Given the description of an element on the screen output the (x, y) to click on. 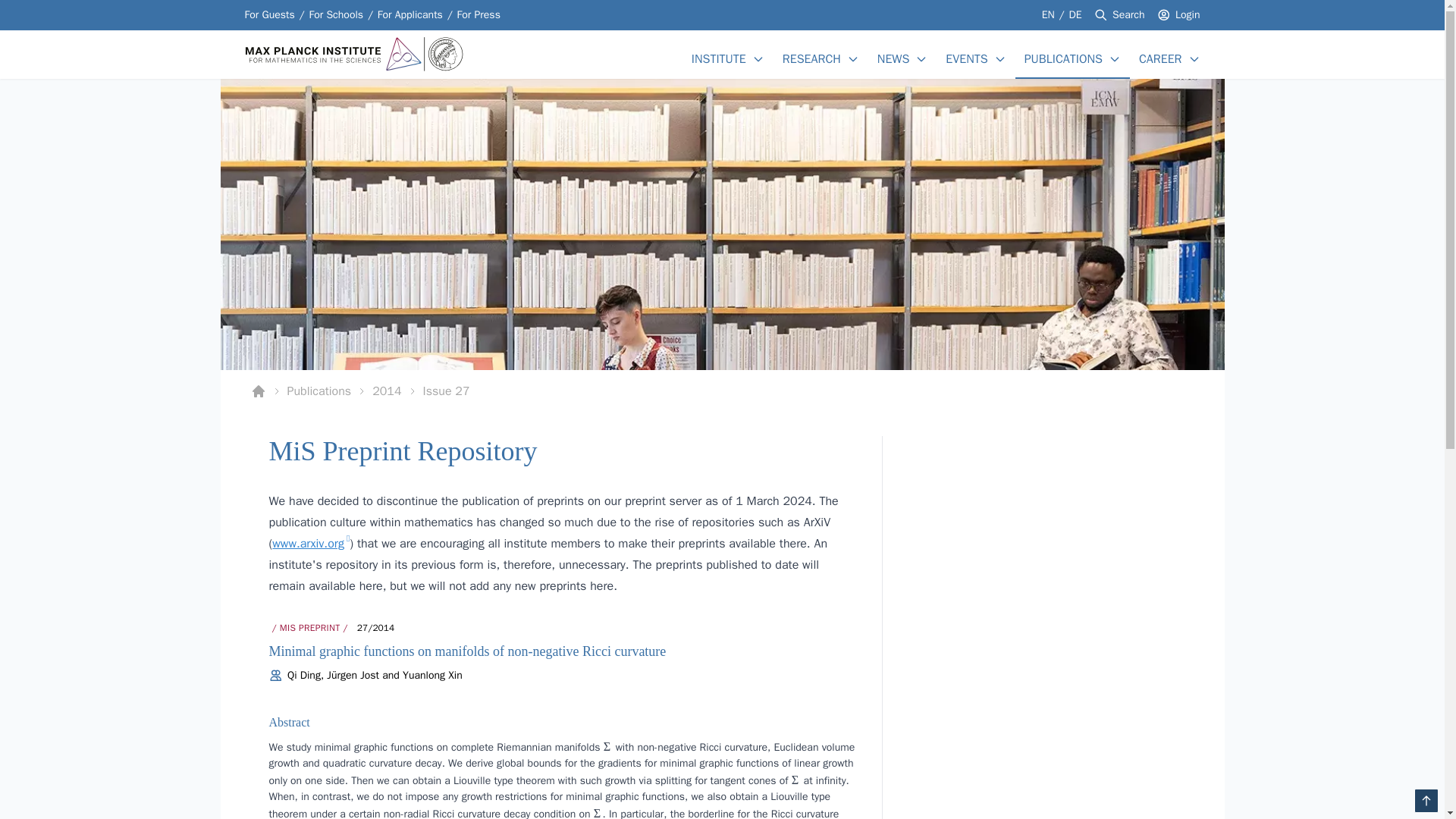
RESEARCH (812, 58)
English (1050, 14)
For Schools (335, 14)
EVENTS (965, 58)
DE (1074, 14)
PUBLICATIONS (1063, 58)
For Applicants (721, 390)
For Guests (409, 14)
For Guests (269, 14)
Institute (269, 14)
For Schools (718, 58)
For Applicants (335, 14)
NEWS (409, 14)
EN (893, 58)
